Given the description of an element on the screen output the (x, y) to click on. 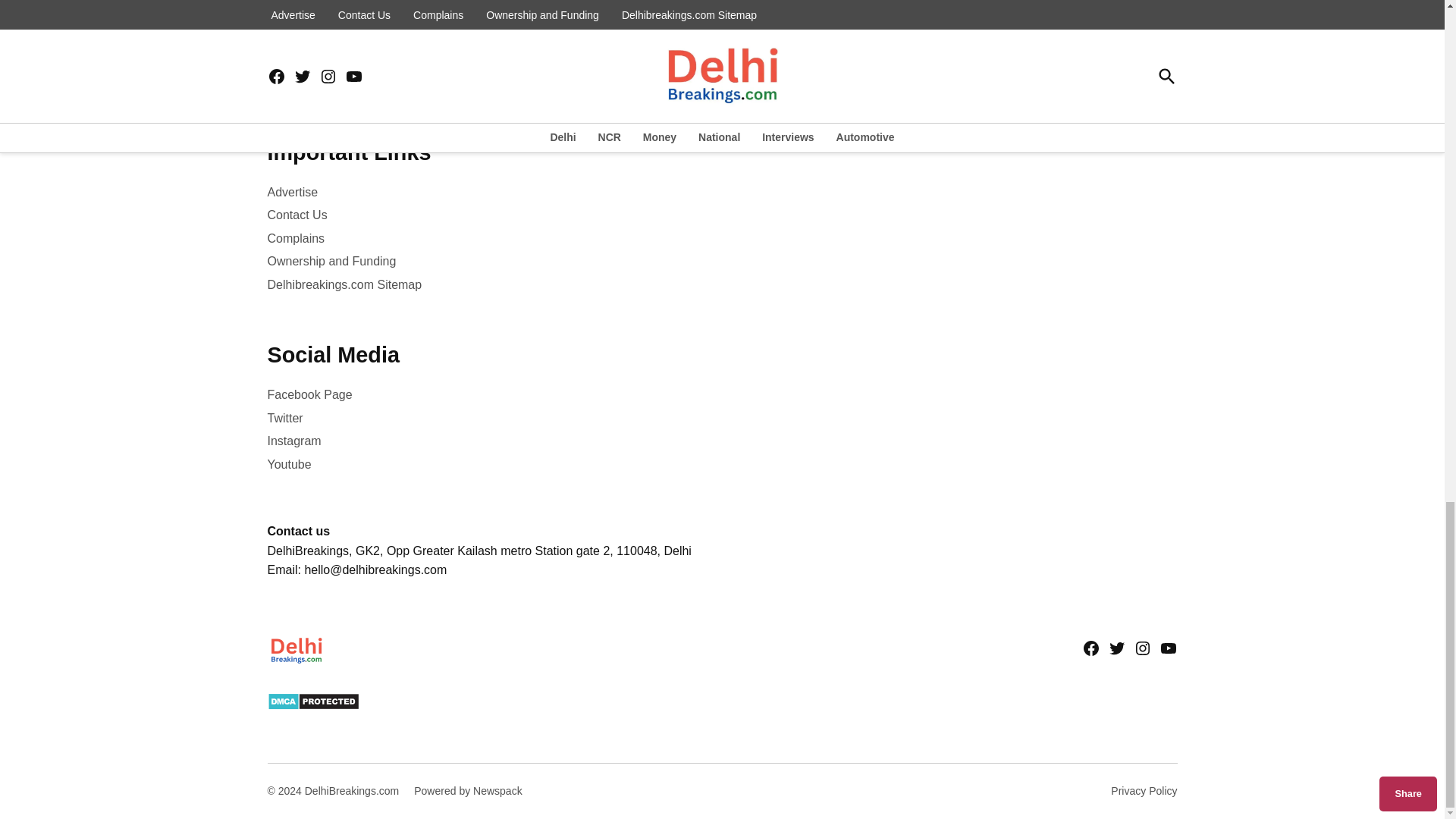
Facebook Page (309, 395)
Contact Us (296, 215)
Instagram (293, 441)
Ownership and Funding (331, 261)
Twitter (284, 417)
Advertise (291, 191)
DMCA.com Protection Status (312, 706)
Delhibreakings.com Sitemap (344, 284)
Complains (295, 238)
